Given the description of an element on the screen output the (x, y) to click on. 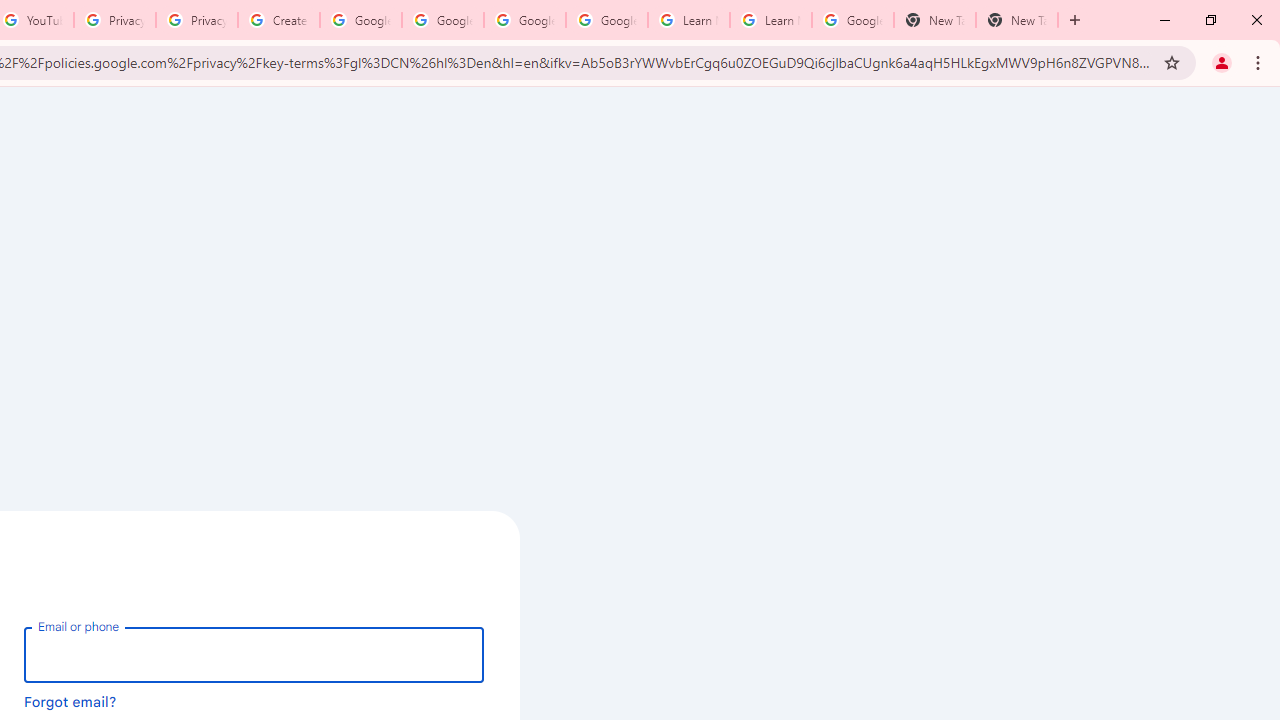
Google Account Help (442, 20)
New Tab (1016, 20)
Email or phone (253, 654)
